Given the description of an element on the screen output the (x, y) to click on. 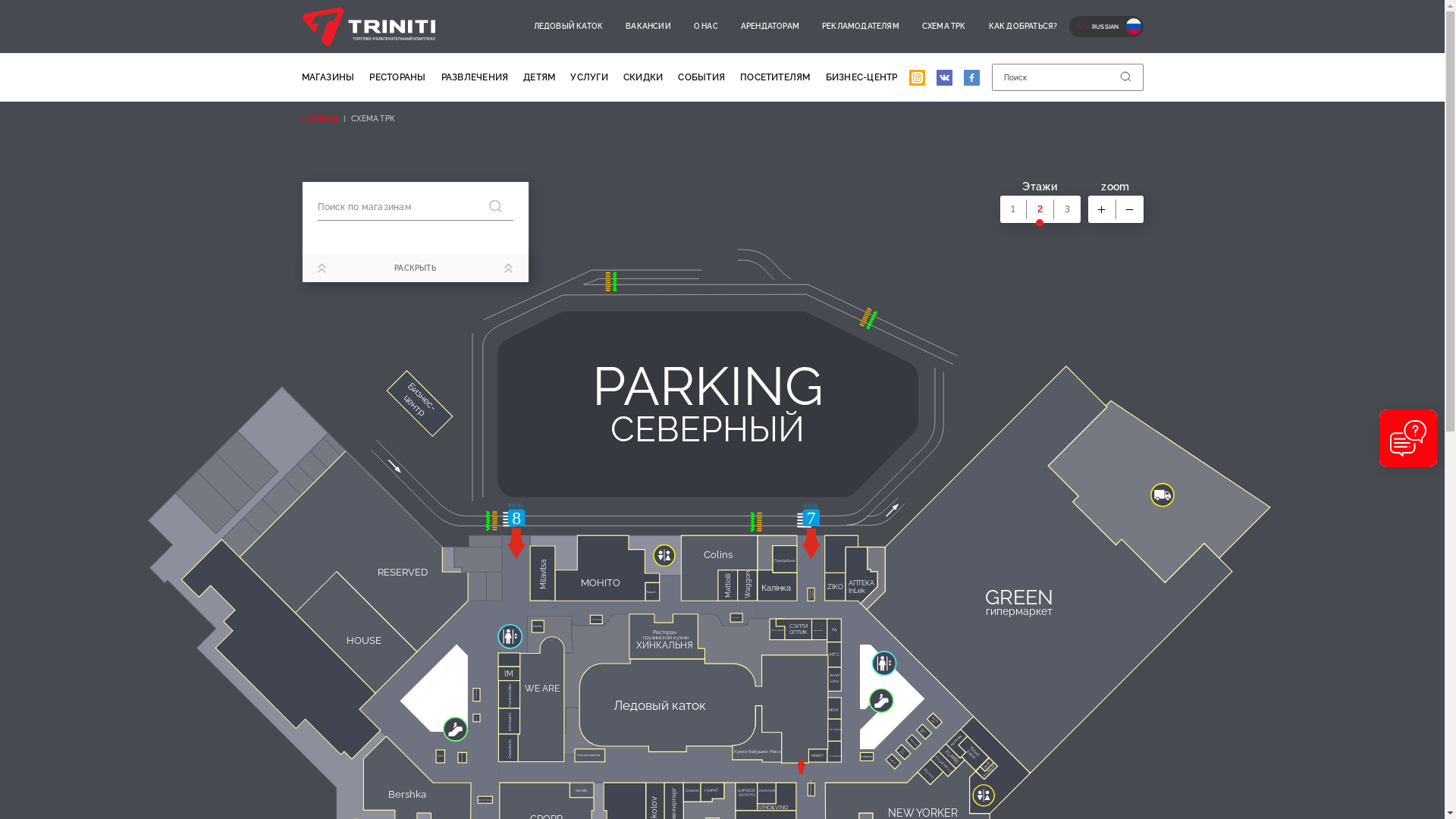
RUSSIAN Element type: text (1106, 26)
